Given the description of an element on the screen output the (x, y) to click on. 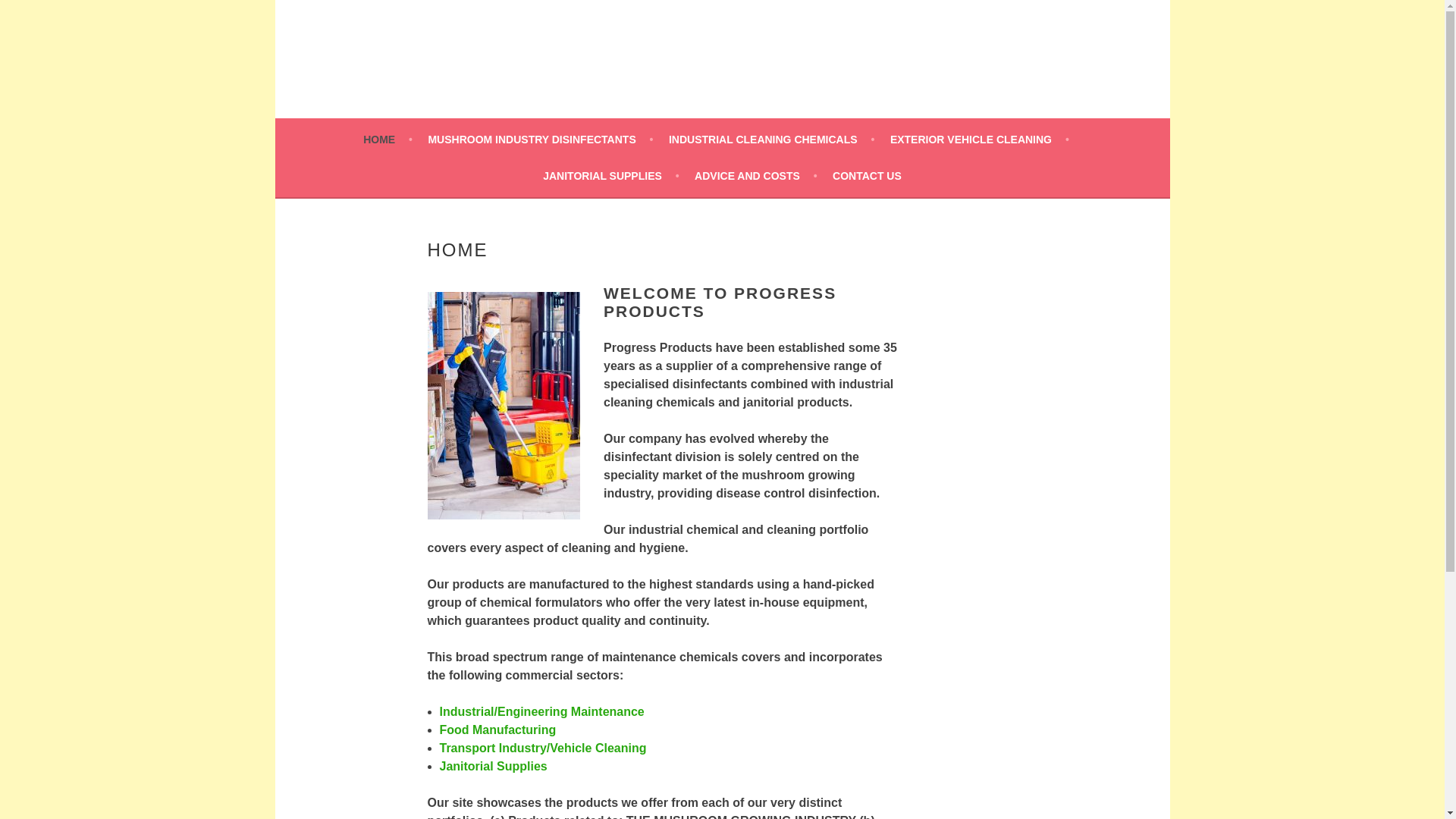
INDUSTRIAL CLEANING CHEMICALS (771, 139)
Janitorial Supplies (493, 766)
JANITORIAL SUPPLIES (610, 176)
HOME (387, 139)
MUSHROOM INDUSTRY DISINFECTANTS (540, 139)
EXTERIOR VEHICLE CLEANING (978, 139)
Food Manufacturing (497, 729)
ADVICE AND COSTS (755, 176)
CONTACT US (866, 176)
